Given the description of an element on the screen output the (x, y) to click on. 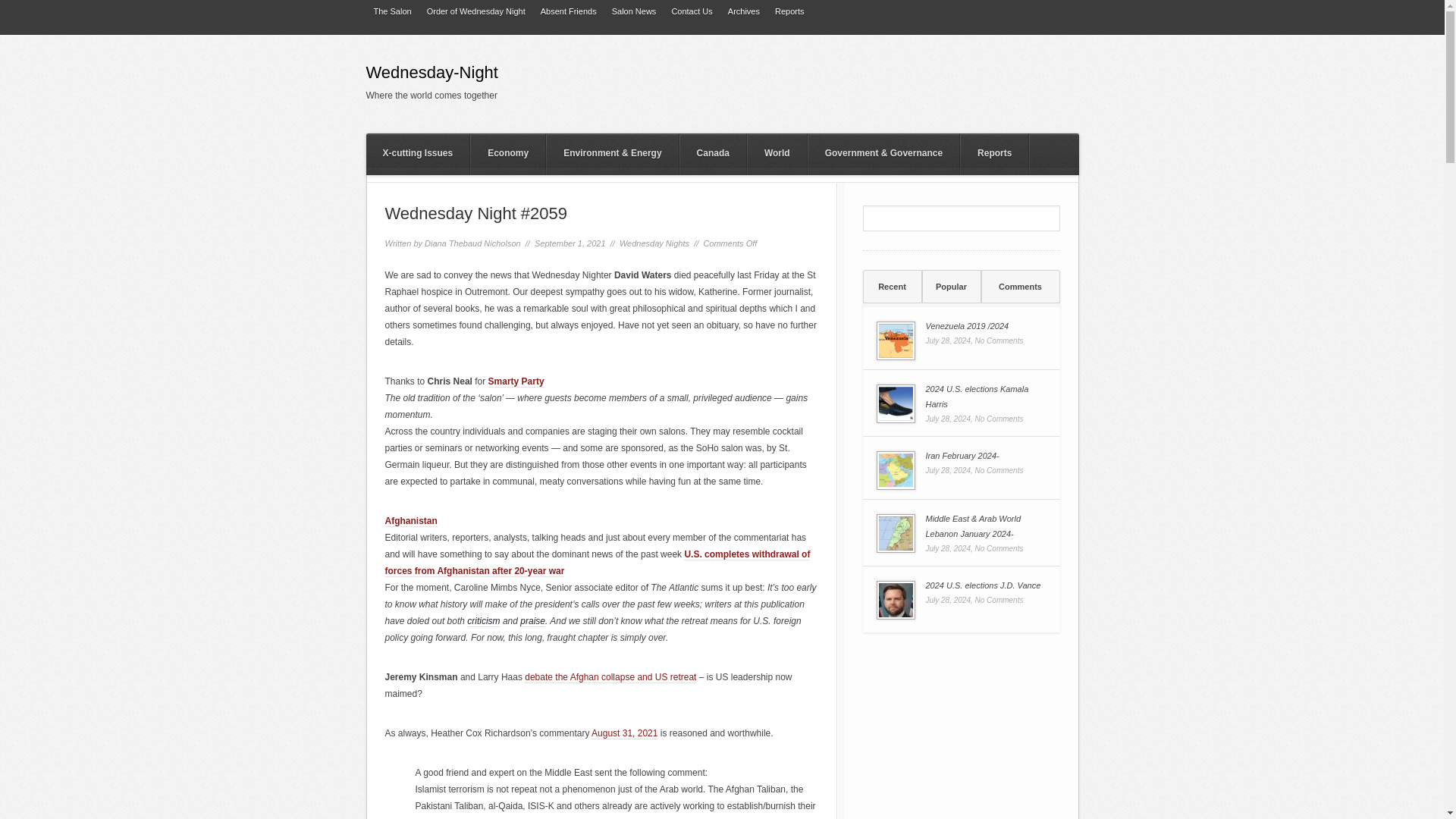
Posts by Diana Thebaud Nicholson (473, 243)
Wednesday-Night (509, 76)
Absent Friends (568, 11)
Order of Wednesday Night (475, 11)
Archives (743, 11)
Economy (507, 154)
Reports (789, 11)
The Salon (392, 11)
Contact Us (691, 11)
Salon News (633, 11)
X-cutting Issues (416, 154)
